Given the description of an element on the screen output the (x, y) to click on. 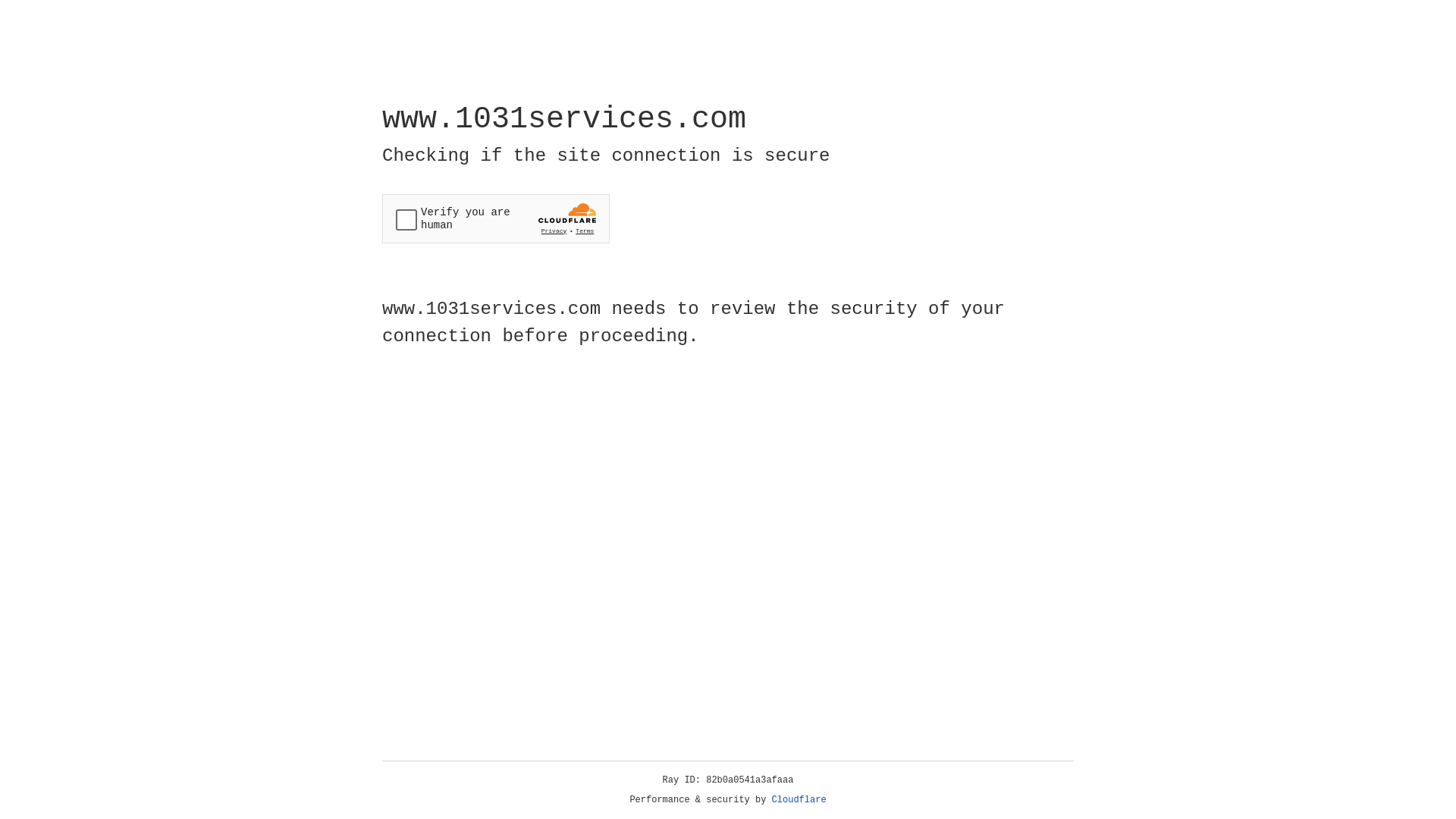
Cloudflare Element type: text (798, 799)
Widget containing a Cloudflare security challenge Element type: hover (495, 218)
